Given the description of an element on the screen output the (x, y) to click on. 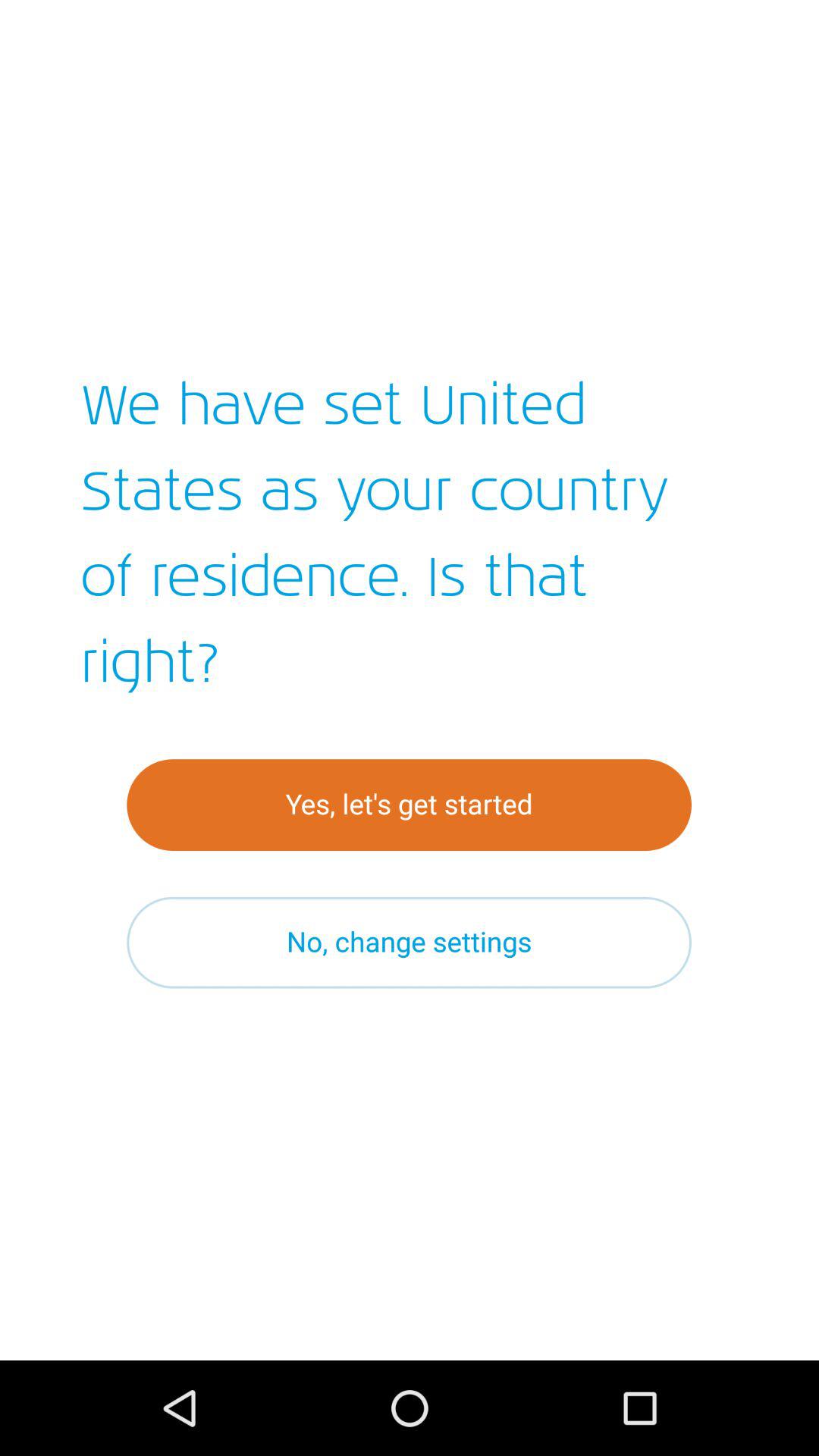
press the item below we have set icon (408, 804)
